Given the description of an element on the screen output the (x, y) to click on. 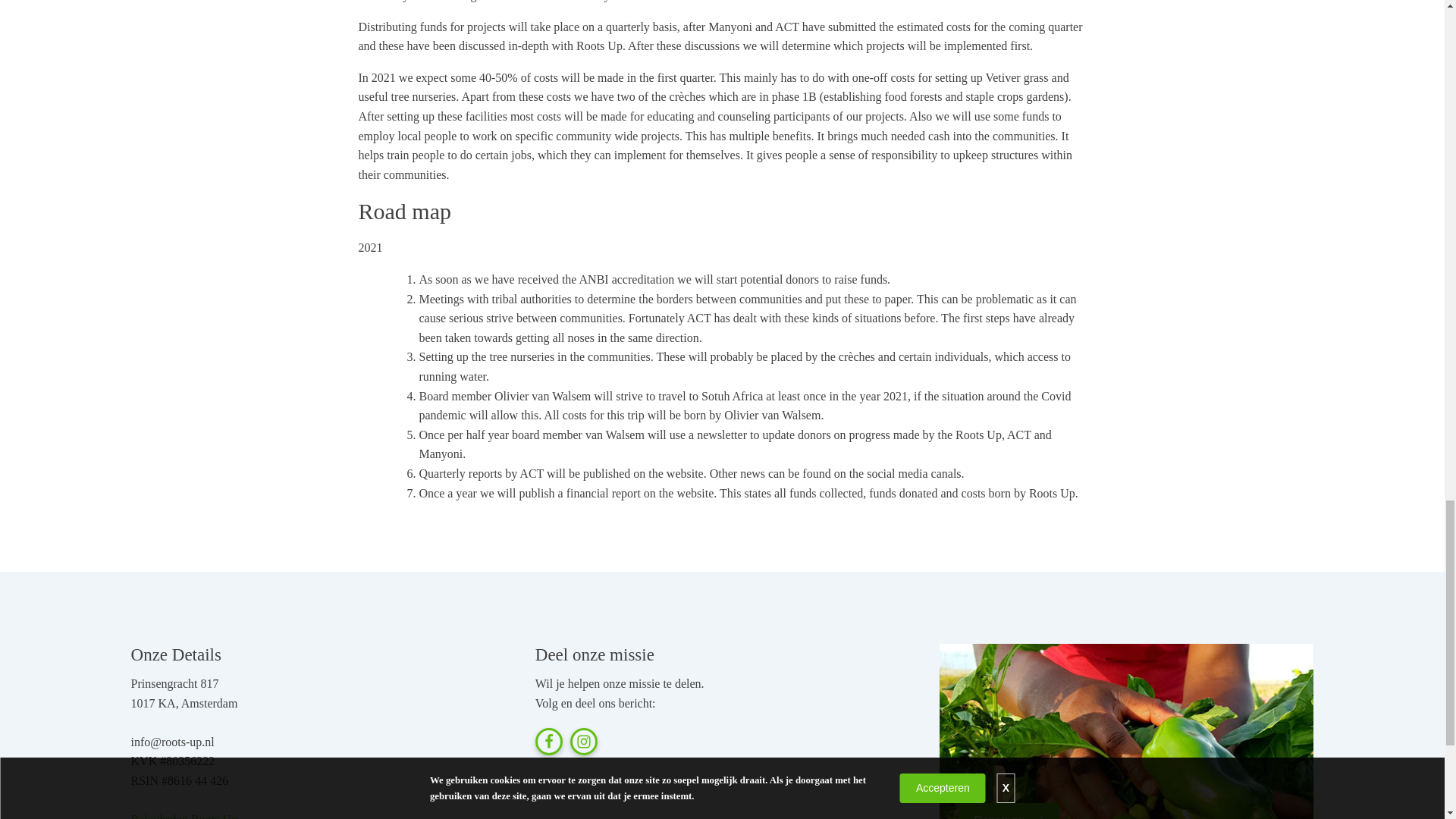
Beleidsplan Roots Up (184, 816)
